Given the description of an element on the screen output the (x, y) to click on. 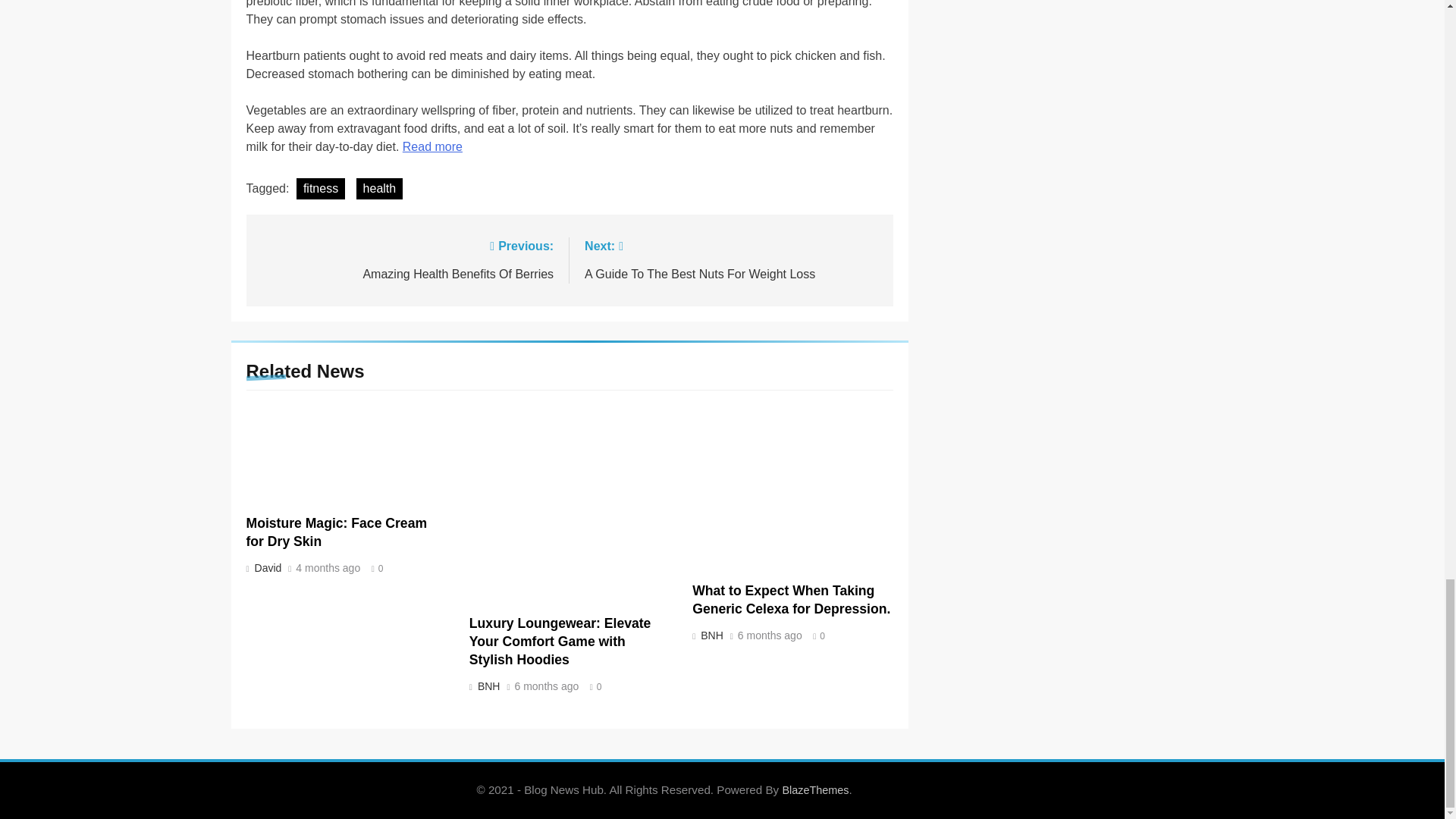
6 months ago (770, 635)
Read more (433, 146)
David (266, 567)
BNH (711, 635)
6 months ago (545, 686)
BNH (486, 686)
health (406, 258)
4 months ago (379, 188)
